Given the description of an element on the screen output the (x, y) to click on. 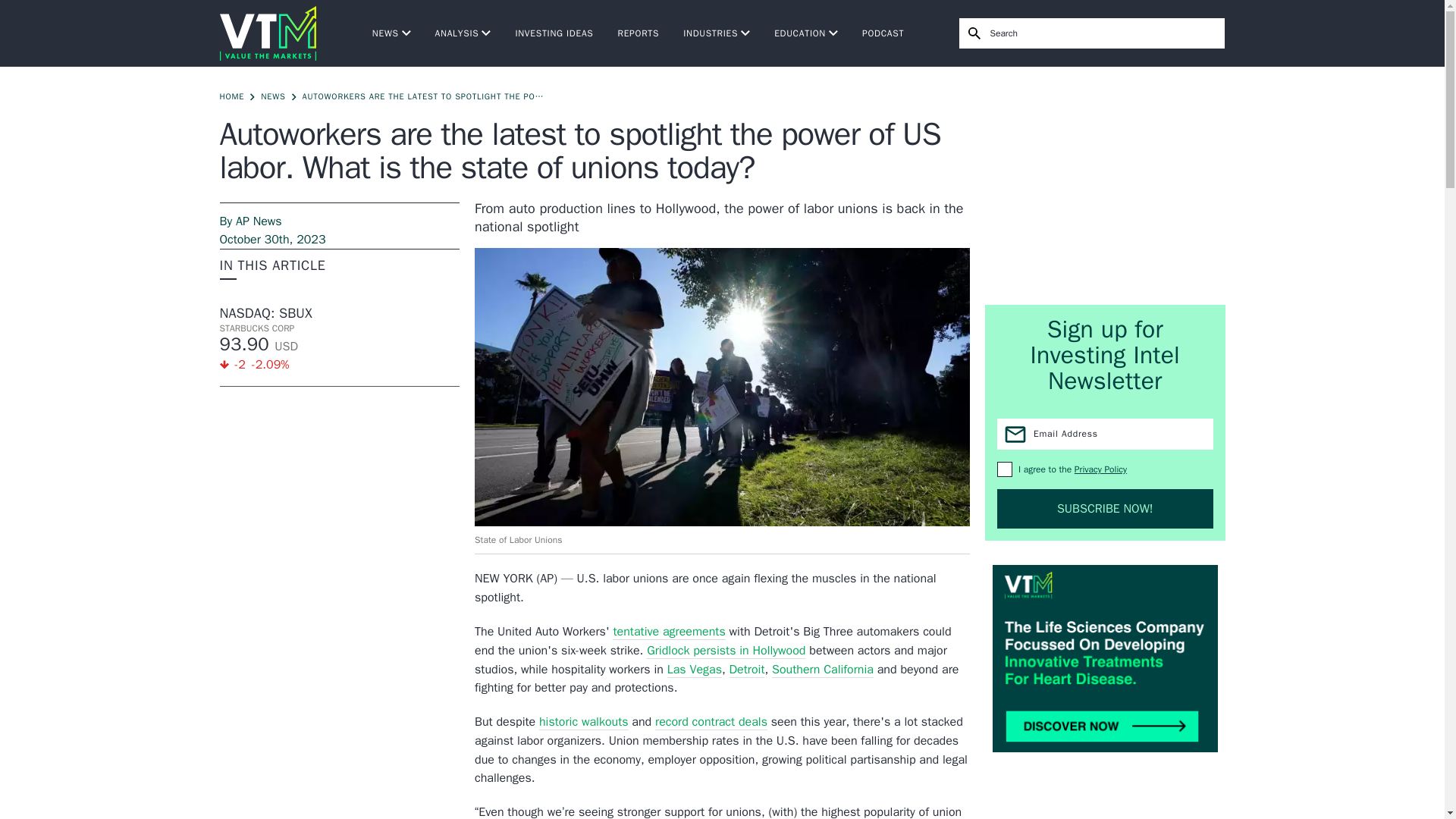
Yes (1004, 468)
INVESTING IDEAS (553, 33)
Advertisement (1105, 185)
EDUCATION (806, 33)
INDUSTRIES (715, 33)
NEWS (391, 33)
REPORTS (638, 33)
PODCAST (882, 33)
ANALYSIS (463, 33)
